Given the description of an element on the screen output the (x, y) to click on. 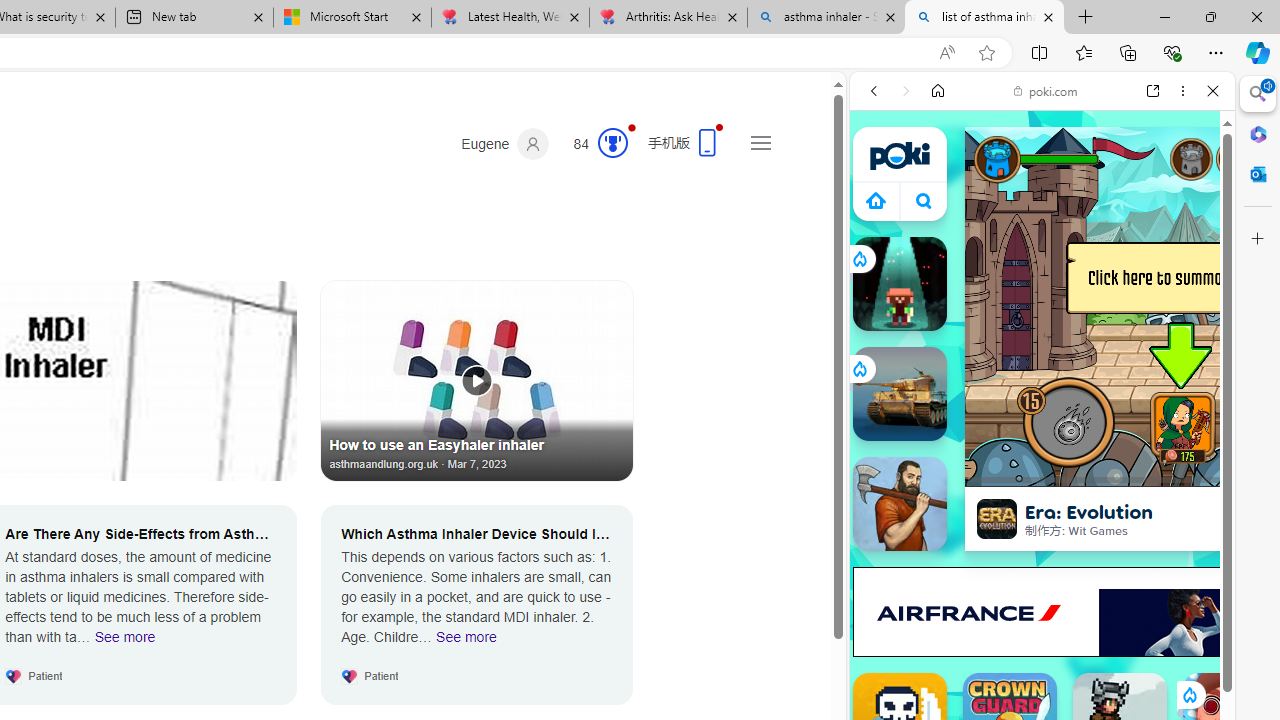
Search Filter, WEB (882, 228)
Show More Shooting Games (1164, 521)
AutomationID: rh_meter (612, 142)
Animation (632, 127)
